Given the description of an element on the screen output the (x, y) to click on. 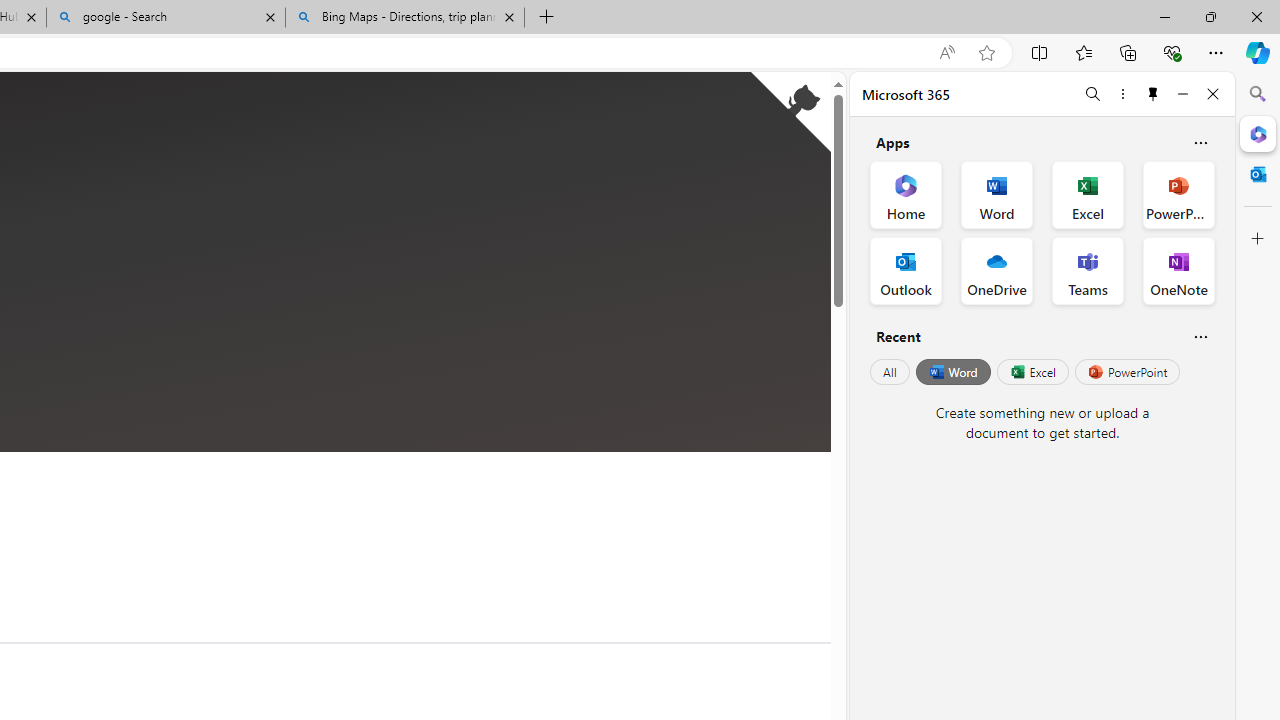
OneNote Office App (1178, 270)
Open GitHub project (790, 111)
Unpin side pane (1153, 93)
PowerPoint Office App (1178, 194)
Excel (1031, 372)
Outlook Office App (906, 270)
OneDrive Office App (996, 270)
